Given the description of an element on the screen output the (x, y) to click on. 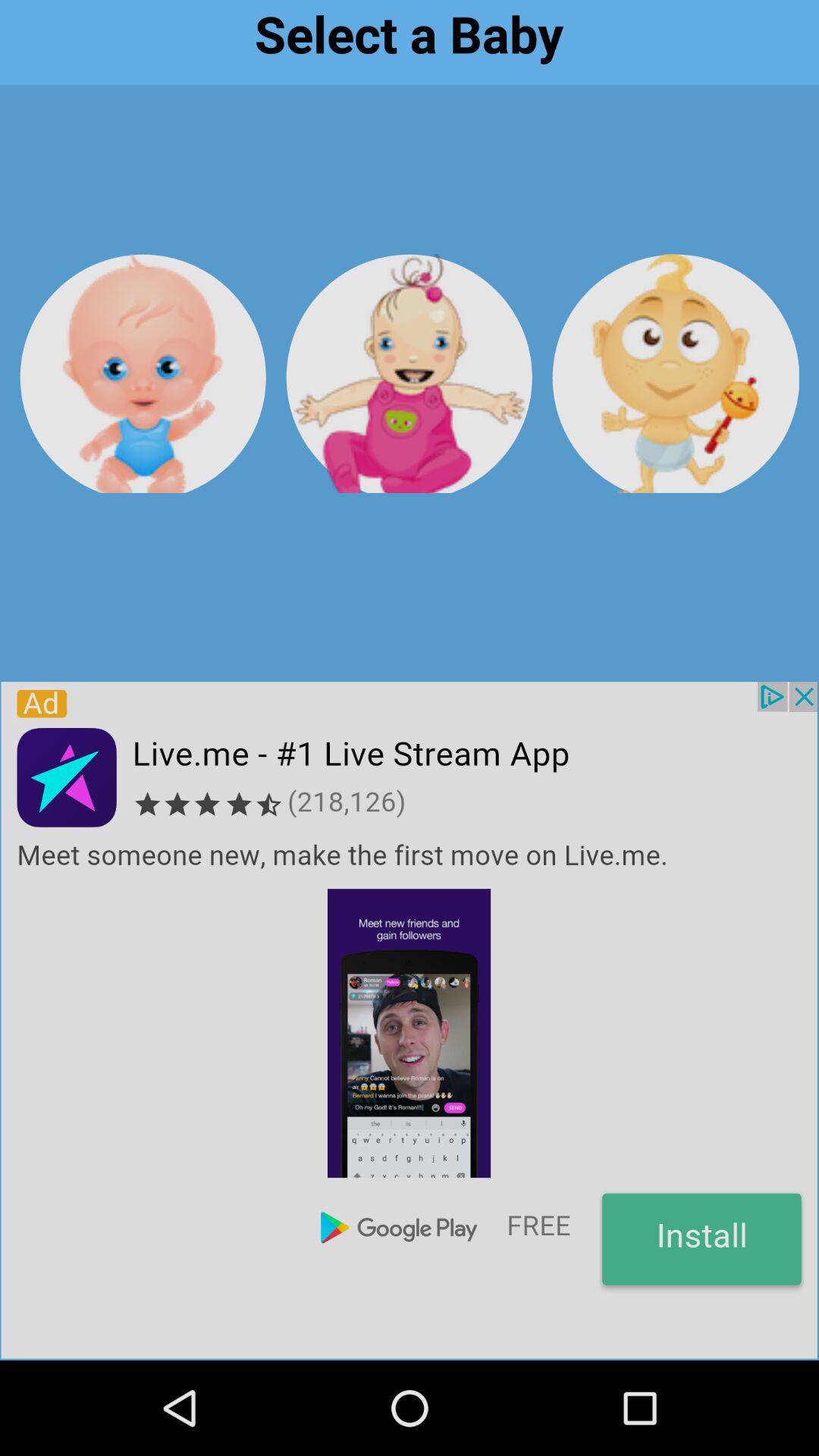
select baby (142, 373)
